Given the description of an element on the screen output the (x, y) to click on. 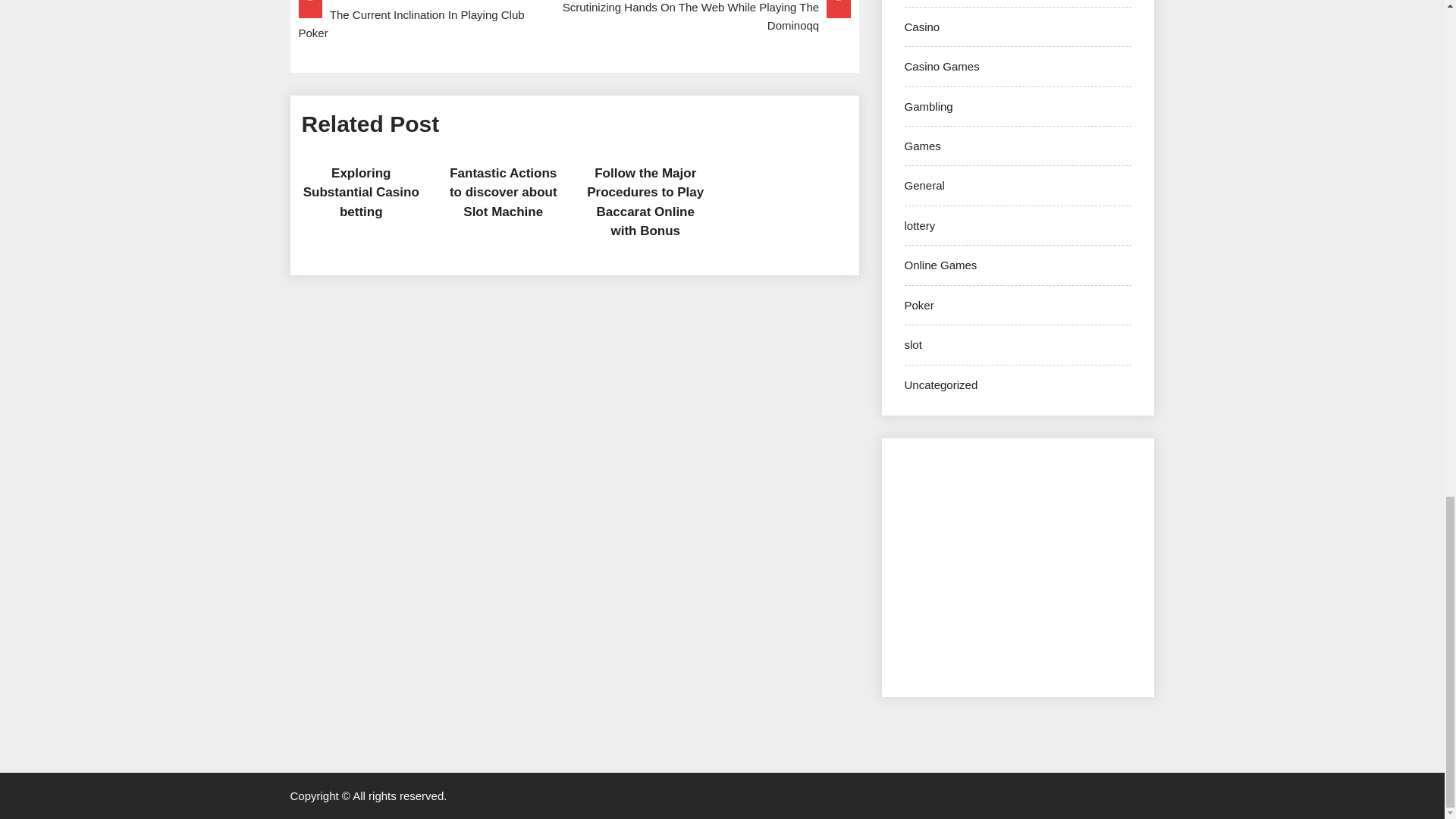
lottery (919, 225)
Online Games (940, 264)
Fantastic Actions to discover about Slot Machine (503, 192)
Poker (918, 305)
General (923, 185)
slot (912, 344)
Casino Games (941, 65)
Casino (921, 26)
Exploring Substantial Casino betting (360, 192)
Gambling (928, 106)
Uncategorized (940, 383)
Games (922, 145)
